Given the description of an element on the screen output the (x, y) to click on. 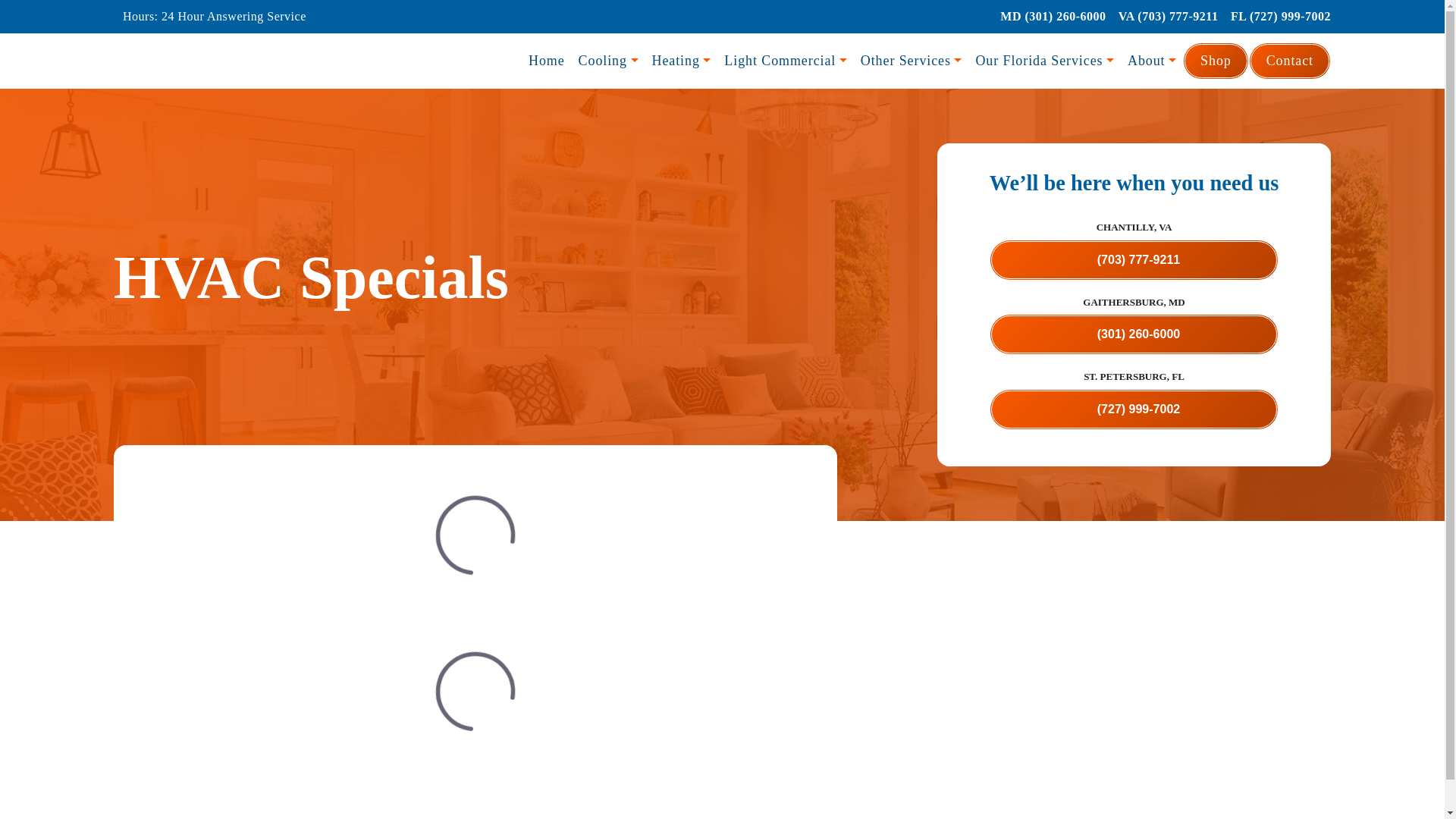
Heating (681, 60)
Other Services (911, 60)
Our Florida Services (1044, 60)
Light Commercial (785, 60)
Home (546, 60)
Cooling (608, 60)
